Given the description of an element on the screen output the (x, y) to click on. 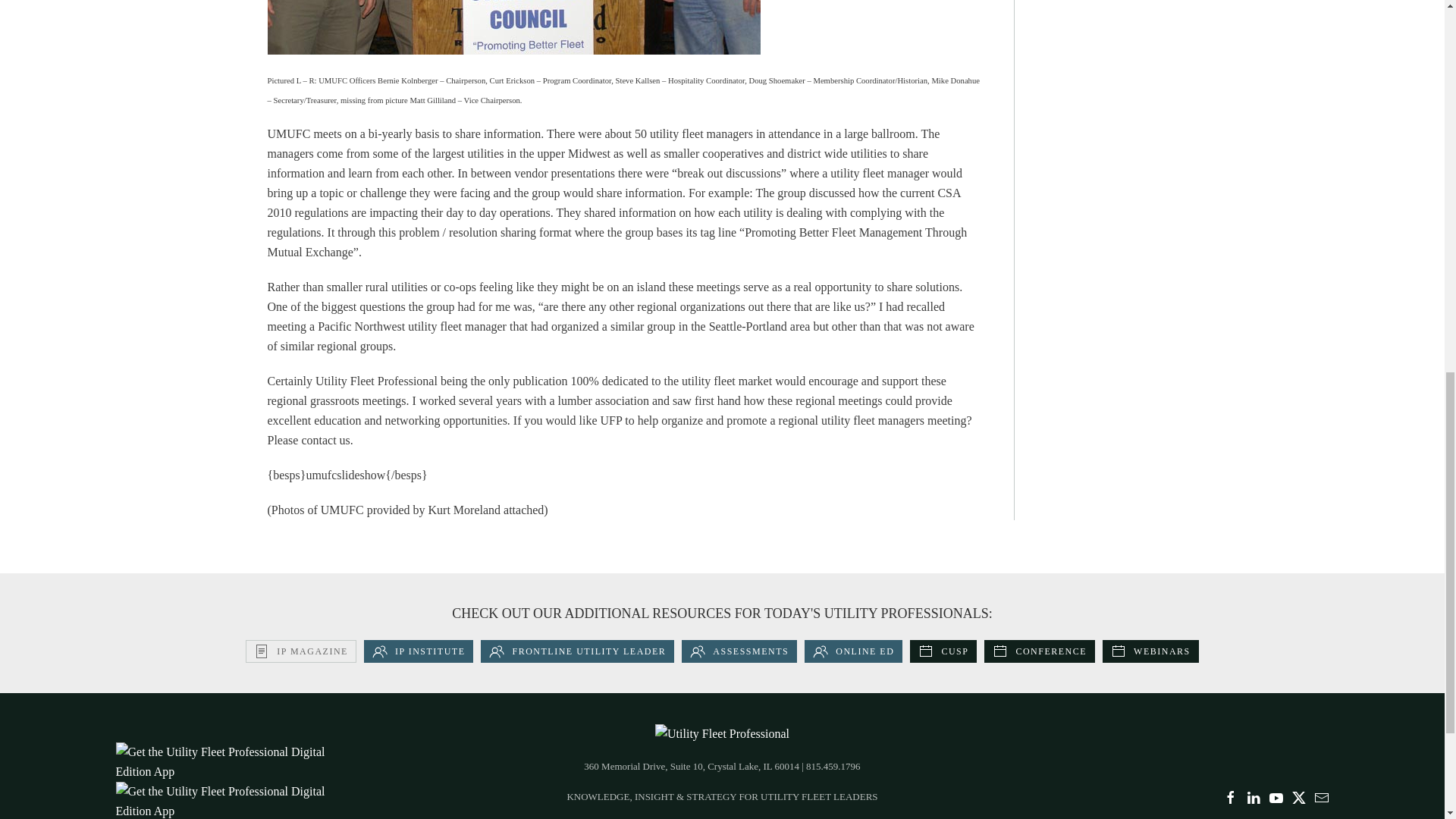
CUSP Certification (943, 650)
iPi Online Education (853, 650)
Assess My Team (738, 650)
Frontline Utility Leadership Education (577, 650)
Incident Prevention Magazine (301, 650)
Frontline Microlearning Webinars (1150, 650)
iP Institute (419, 650)
